Given the description of an element on the screen output the (x, y) to click on. 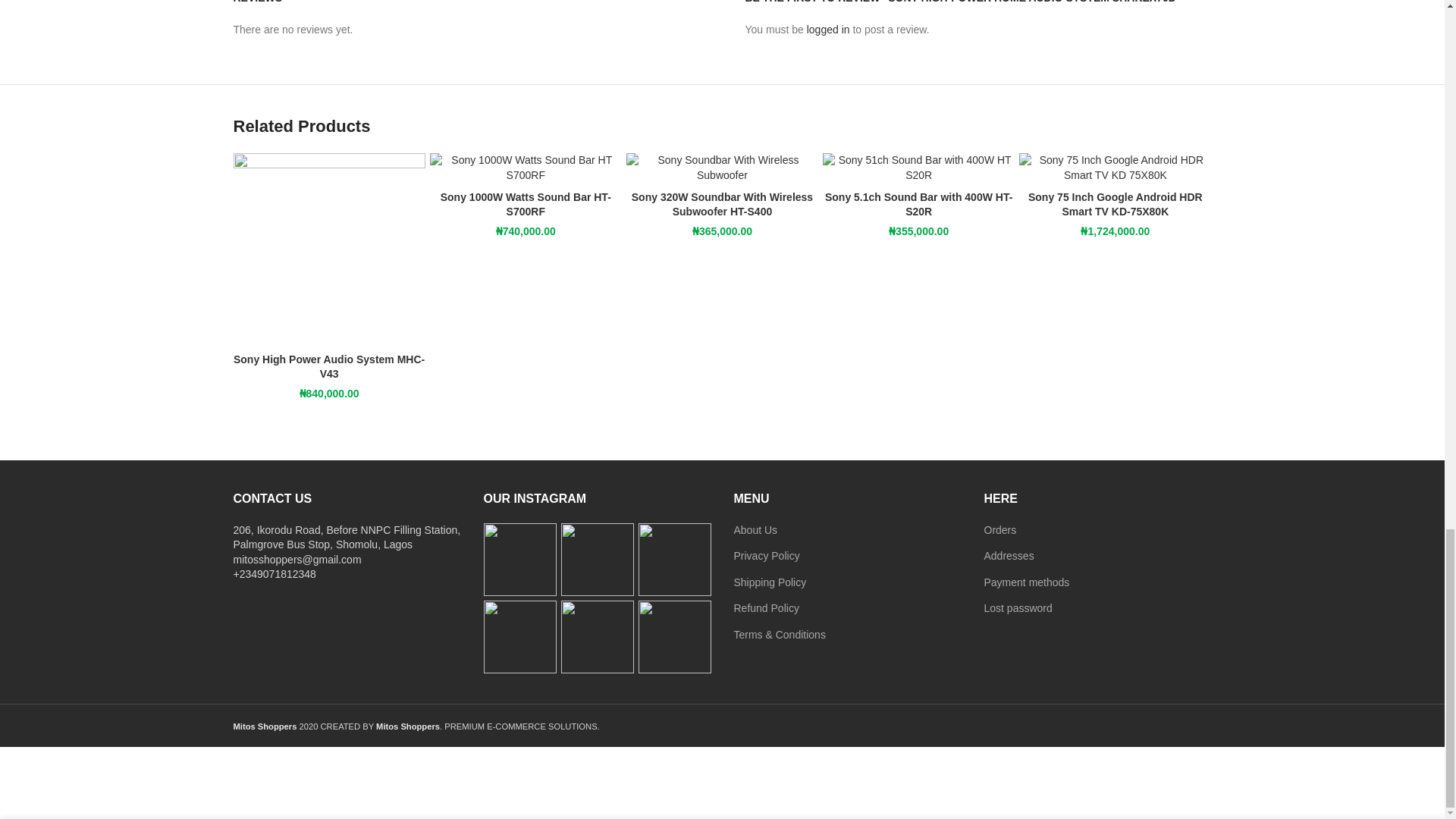
sony mhcv43 Mitos Shoppers (328, 248)
HTS400 Mitos Shoppers (722, 167)
Sony 1000W Watts Sound Bar HTS700RF Mitos Shoppers (525, 167)
